Given the description of an element on the screen output the (x, y) to click on. 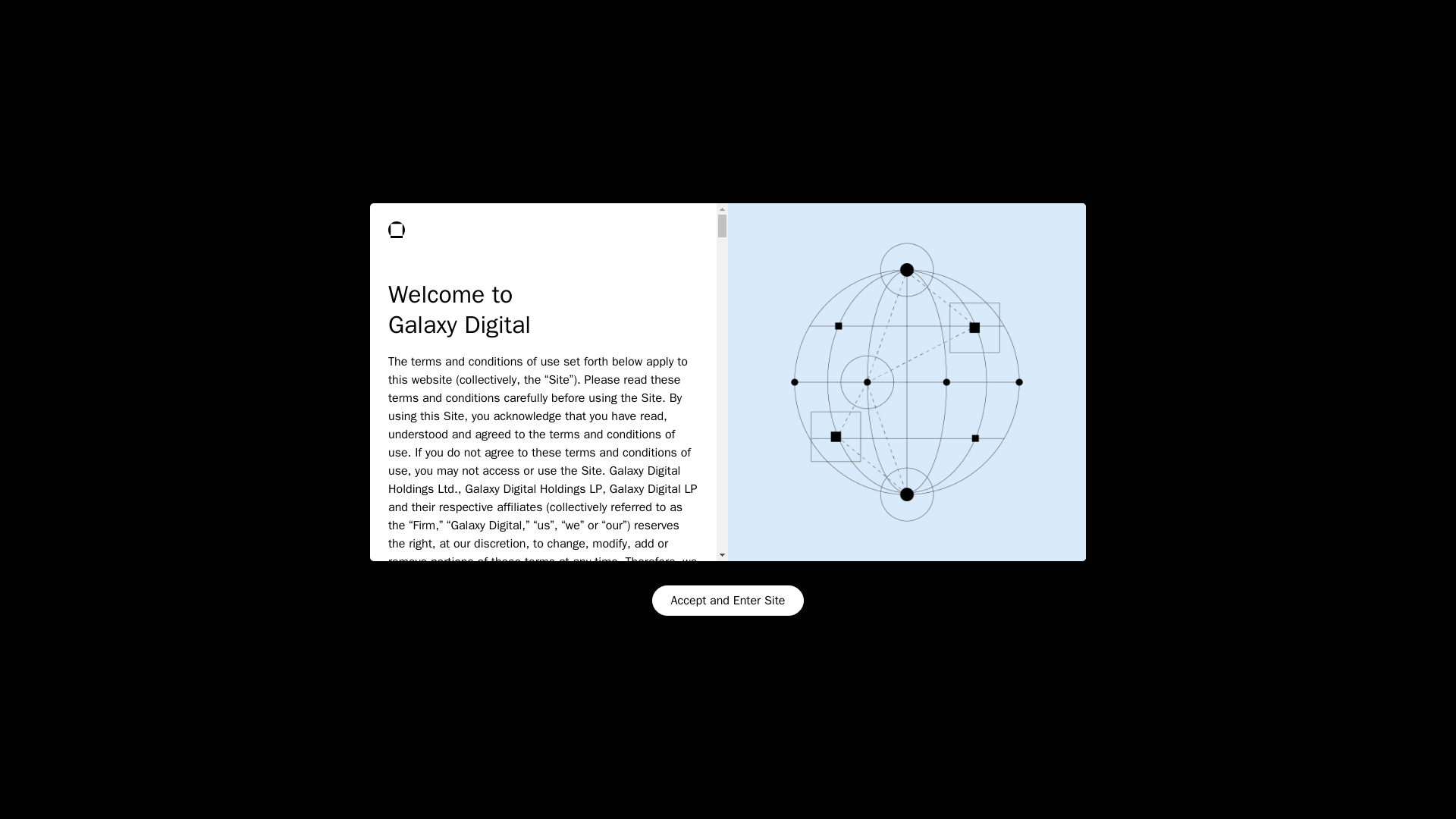
1 (1137, 247)
Show Details (186, 789)
0 (663, 247)
Cookies Policy (278, 747)
